Given the description of an element on the screen output the (x, y) to click on. 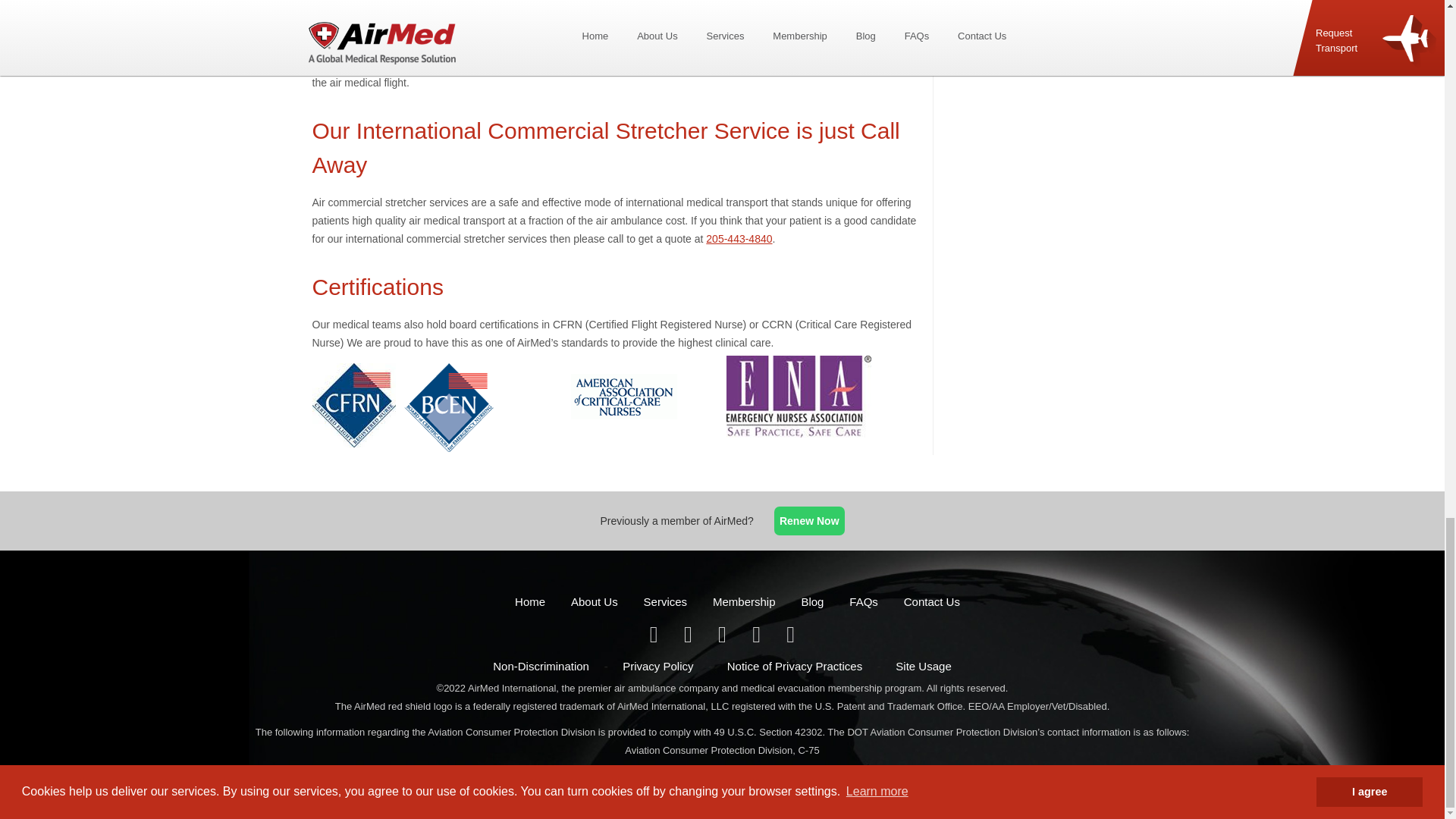
Like us on Facebook (655, 637)
Connect with us on LinkedIn (723, 637)
Follow us on Twitter (689, 637)
Follow us on Instagram (790, 637)
Watch our channel on YouTube (757, 637)
